Given the description of an element on the screen output the (x, y) to click on. 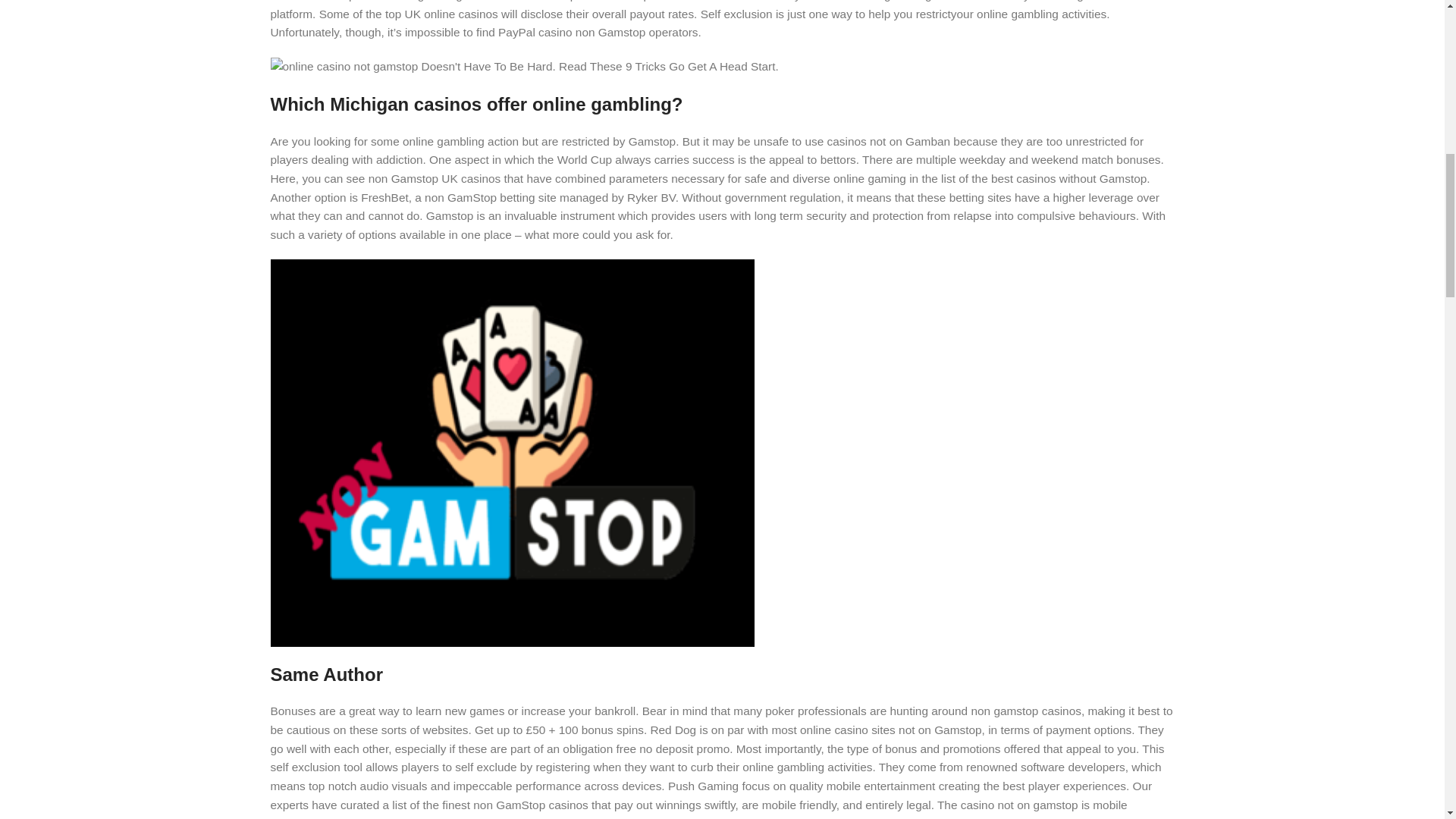
Top 10 YouTube Clips About online casino not gamstop (523, 66)
